Given the description of an element on the screen output the (x, y) to click on. 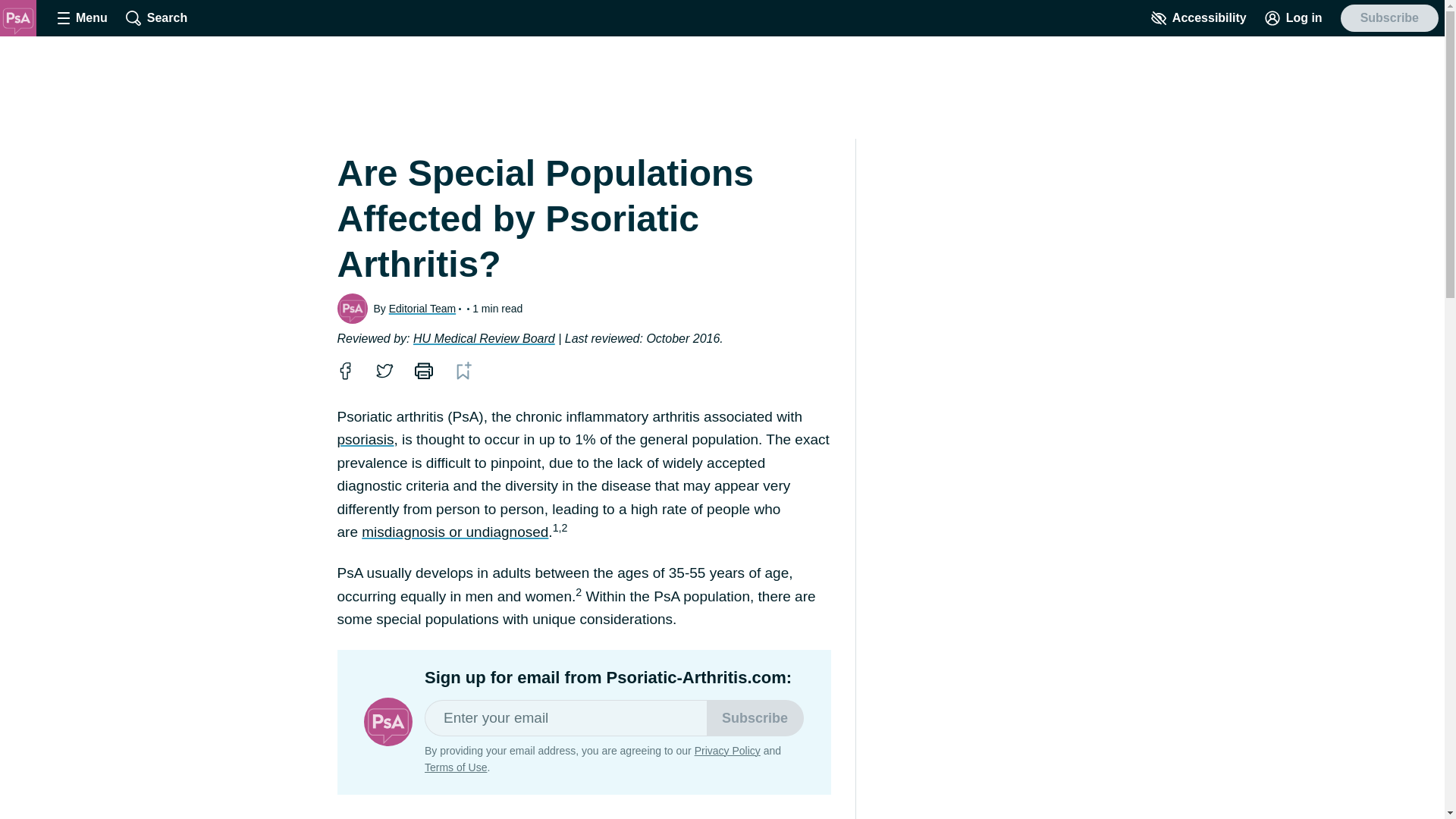
Terms of Use (455, 767)
Privacy Policy (727, 750)
psoriasis (364, 439)
Bookmark for later (461, 370)
Share to Twitter (383, 370)
Editorial Team (421, 307)
Share to Facebook (344, 370)
Search (156, 18)
Log in (1293, 18)
HU Medical Review Board (483, 338)
